Given the description of an element on the screen output the (x, y) to click on. 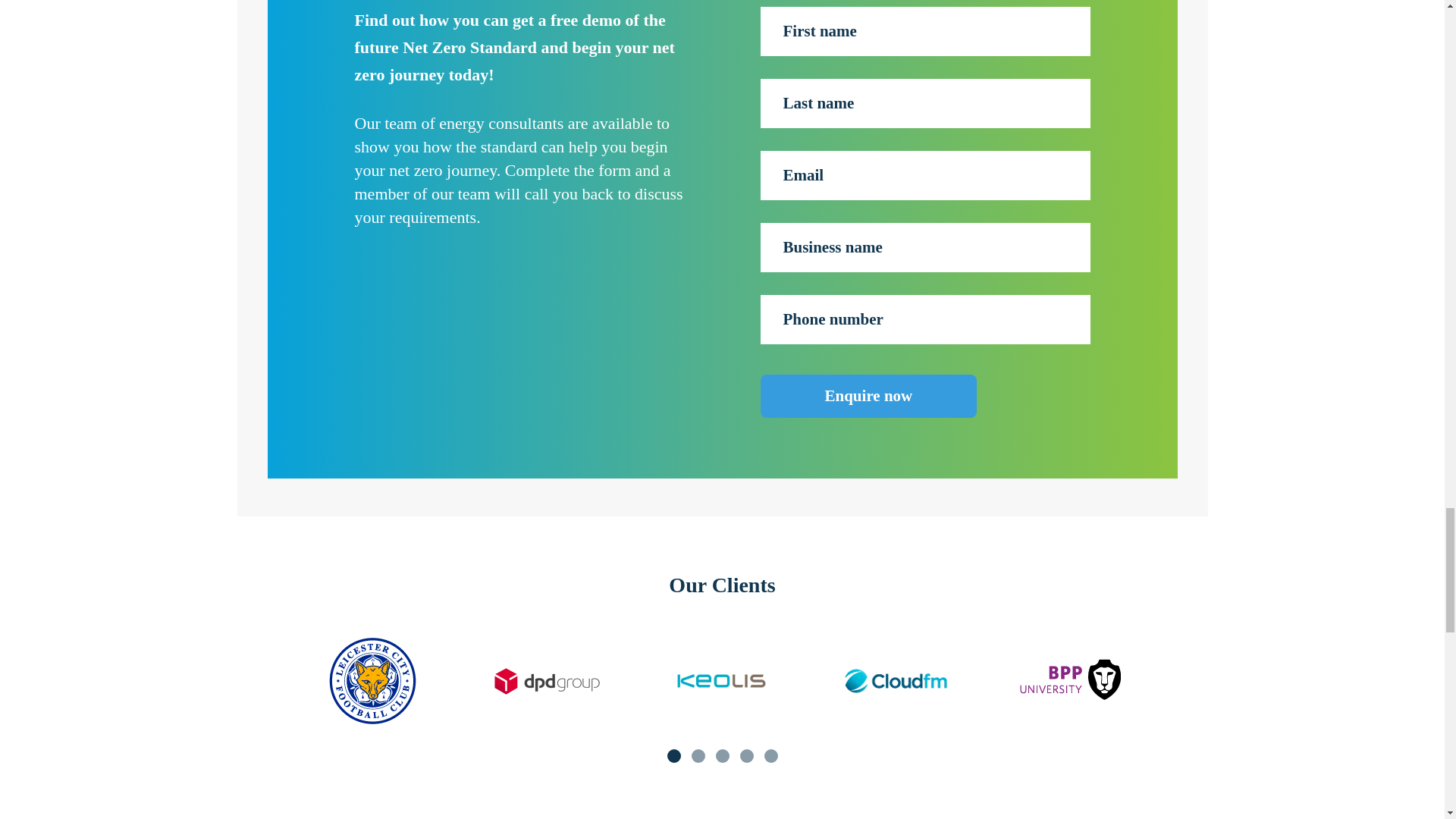
Enquire now (868, 395)
